Given the description of an element on the screen output the (x, y) to click on. 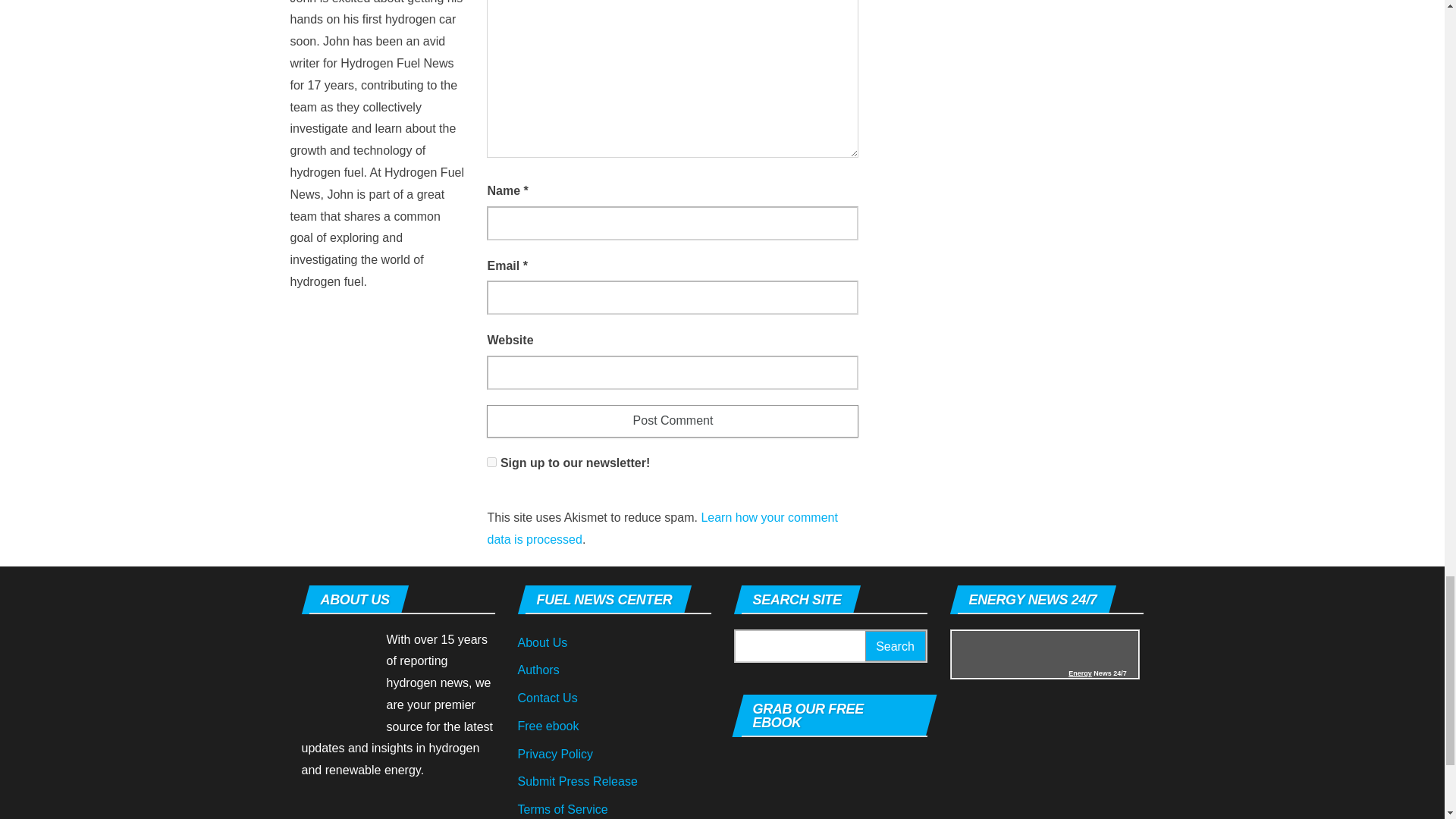
Search (894, 645)
1 (491, 461)
Post Comment (672, 420)
